Given the description of an element on the screen output the (x, y) to click on. 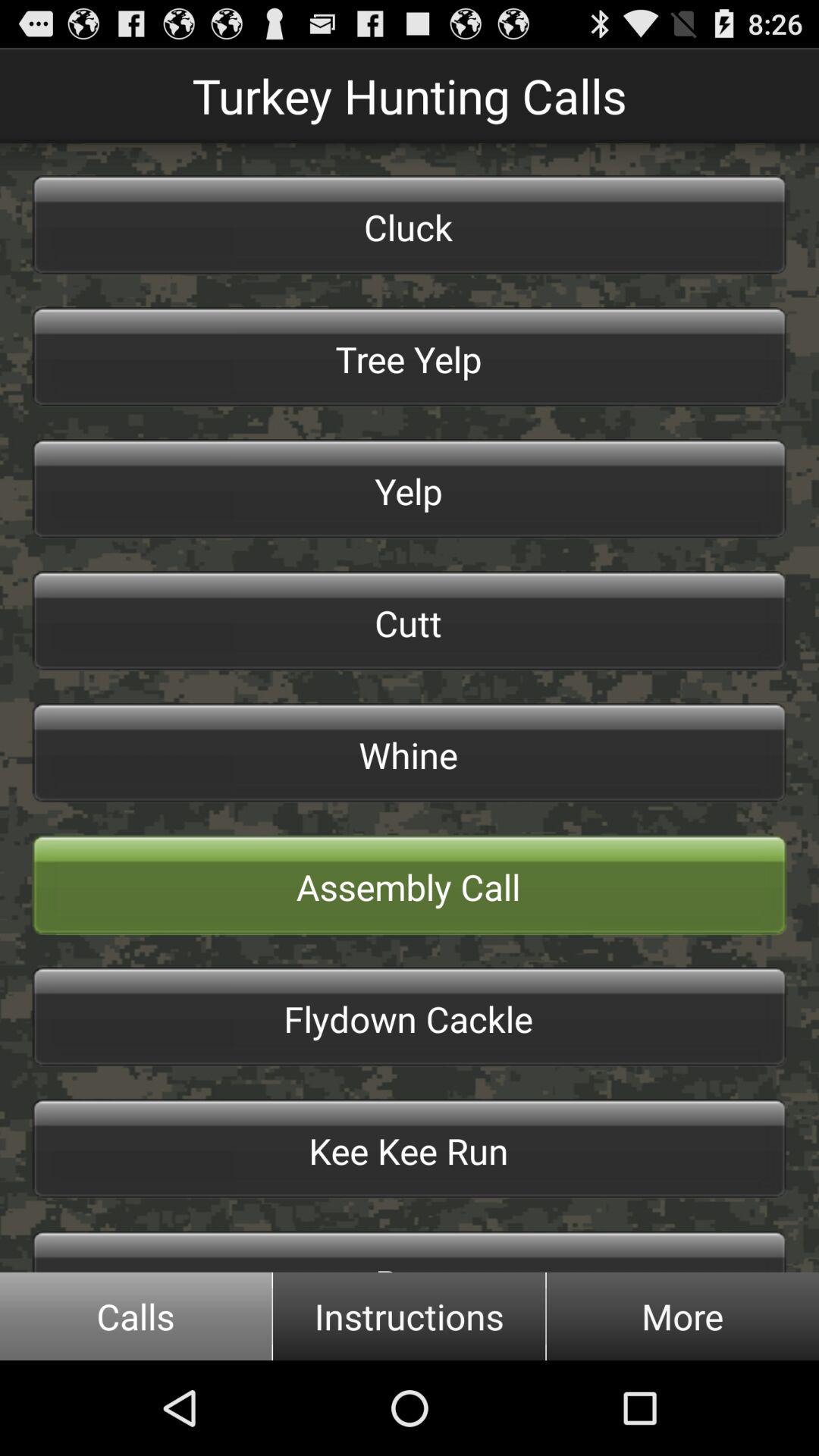
launch assembly call item (409, 884)
